Given the description of an element on the screen output the (x, y) to click on. 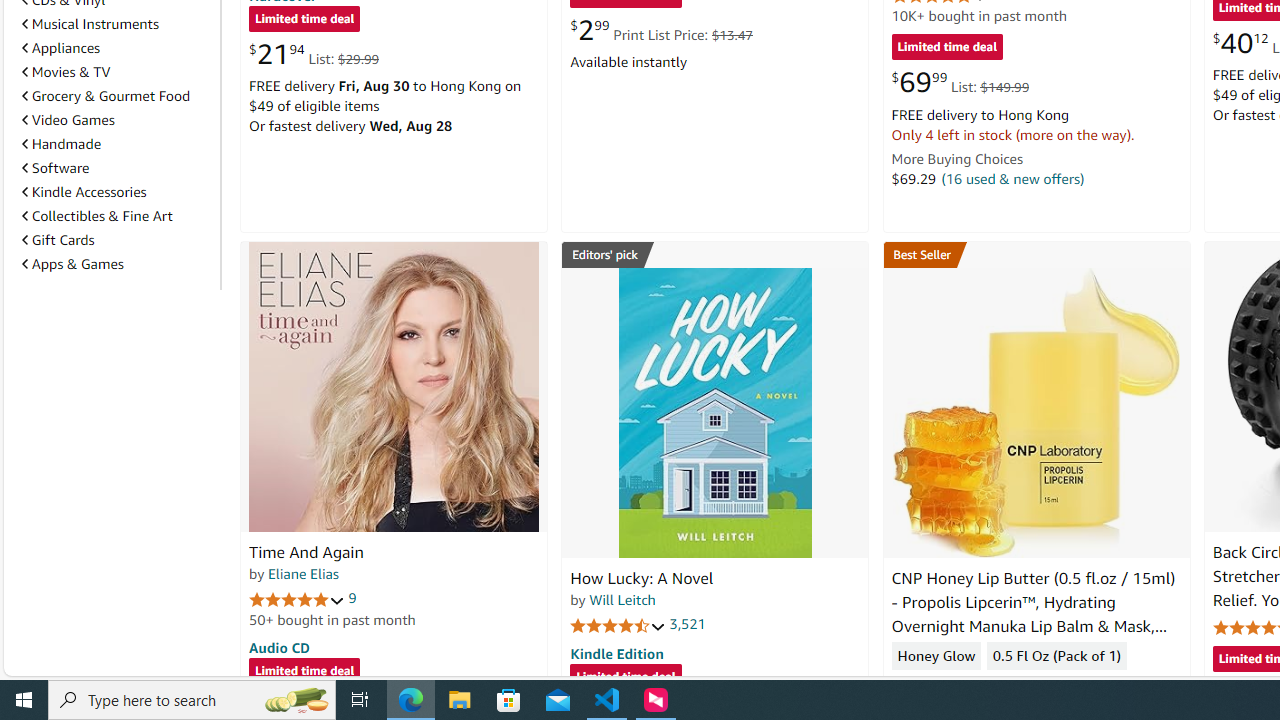
9 (352, 597)
Handmade (61, 143)
How Lucky: A Novel (714, 412)
How Lucky: A Novel (641, 578)
Handmade (117, 143)
Musical Instruments (117, 23)
$2.99 Print List Price: $13.47 (660, 30)
Appliances (61, 47)
Software (55, 168)
3,521 (687, 624)
4.3 out of 5 stars (939, 685)
Musical Instruments (89, 24)
Kindle Edition (616, 653)
Kindle Accessories (117, 192)
